Given the description of an element on the screen output the (x, y) to click on. 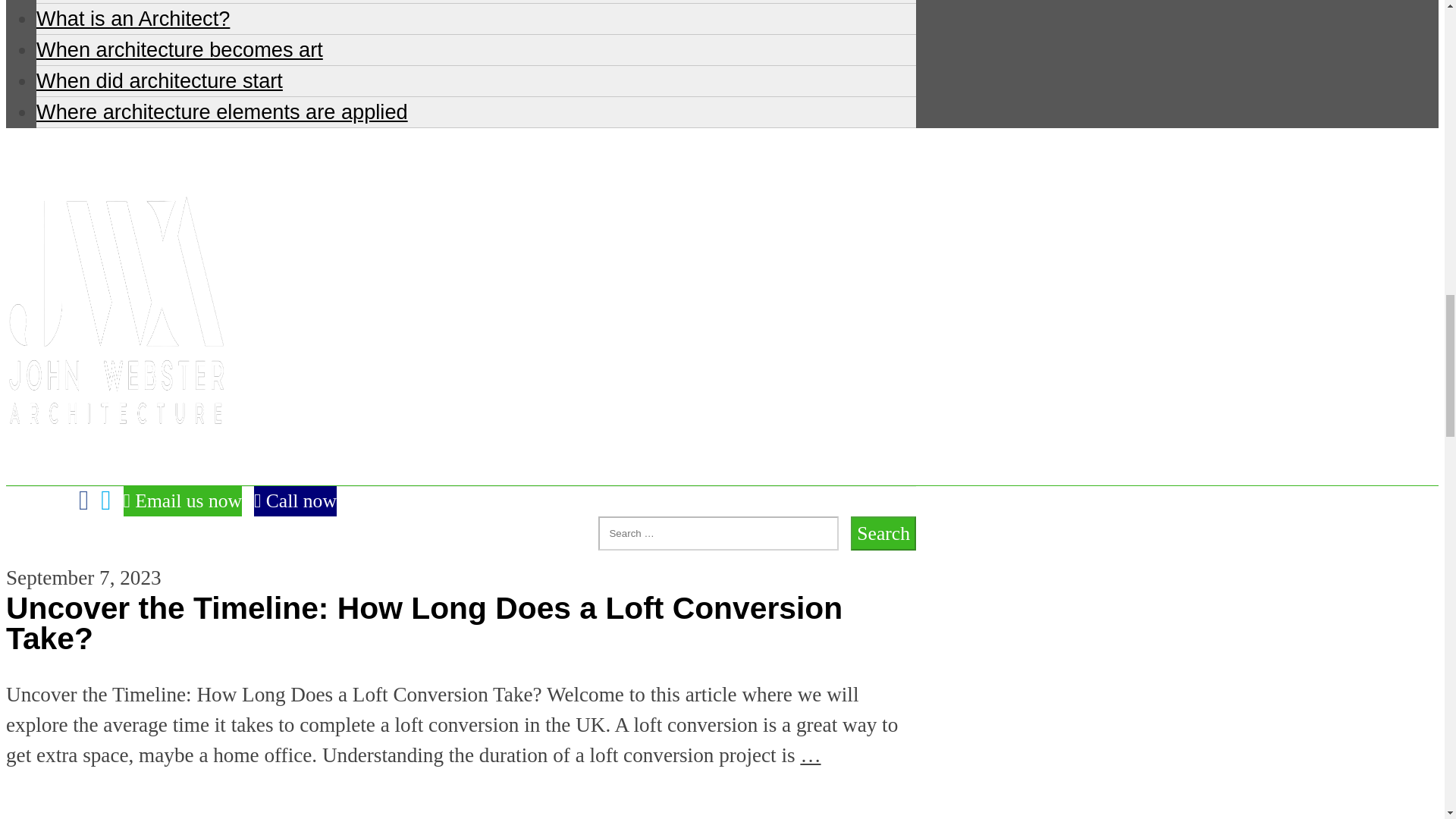
Go to homepage (115, 469)
Search (882, 533)
Search (882, 533)
